Given the description of an element on the screen output the (x, y) to click on. 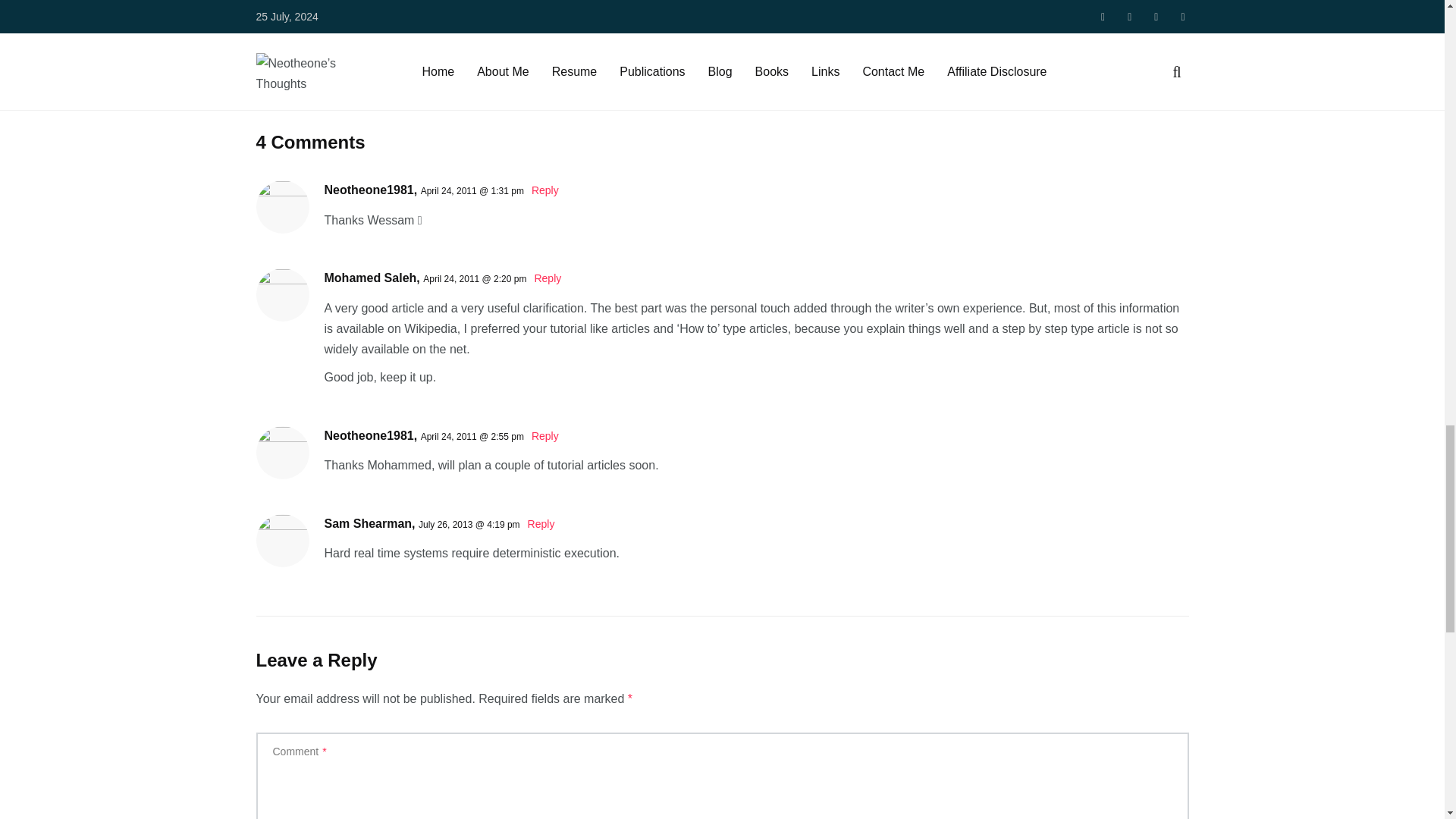
Sam Shearman (368, 522)
Reply (547, 277)
Reply (545, 190)
Reply (545, 435)
Reply (540, 523)
Real-time (344, 51)
